Given the description of an element on the screen output the (x, y) to click on. 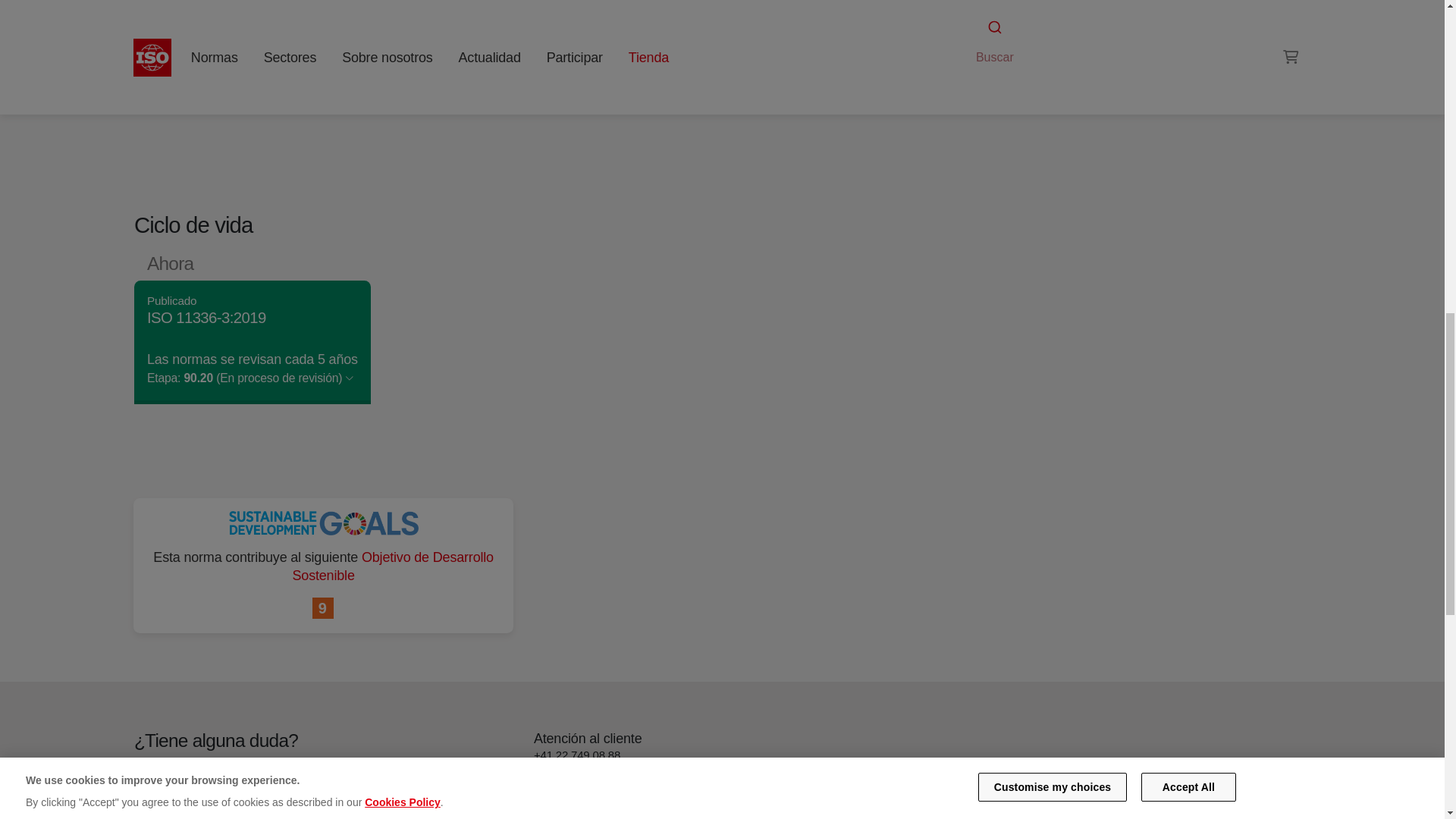
Ships and marine technology - Large yachts (1086, 40)
47.040 (988, 58)
Seagoing vessels (988, 58)
